Given the description of an element on the screen output the (x, y) to click on. 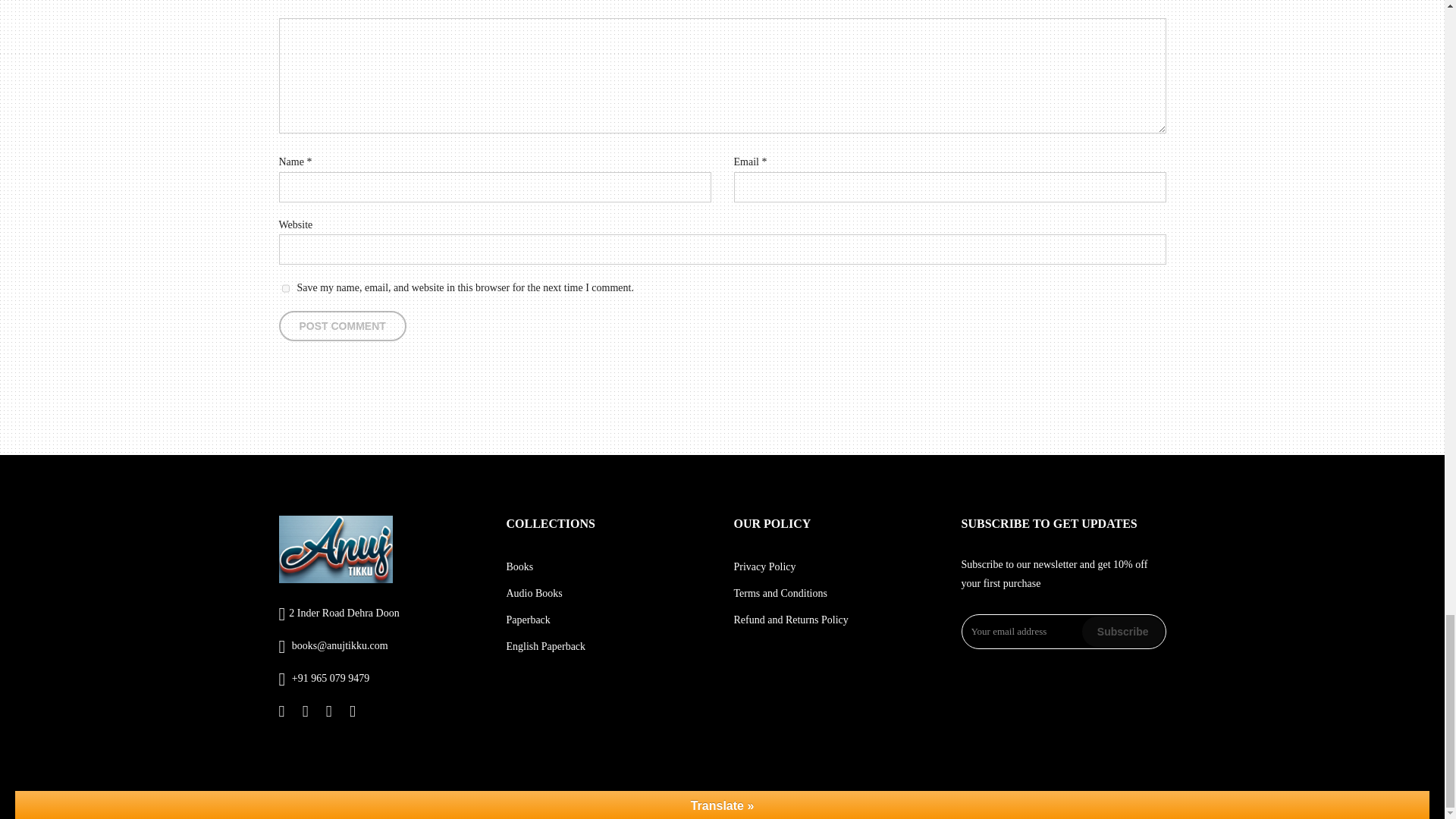
Post Comment (342, 326)
